Given the description of an element on the screen output the (x, y) to click on. 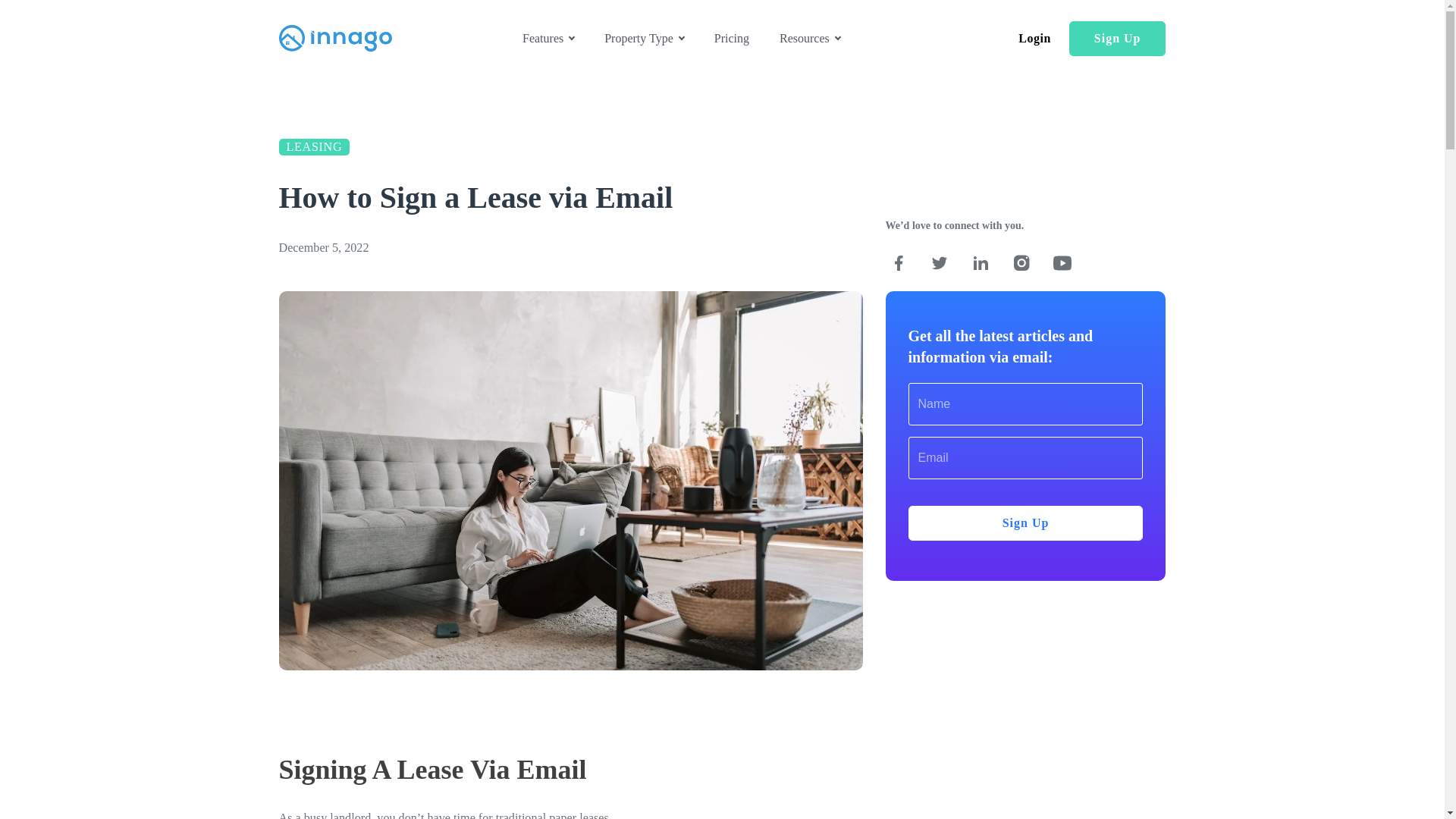
Resources (809, 38)
Pricing (731, 38)
Sign Up (1117, 38)
Features (547, 38)
Property Type (644, 38)
Login (1034, 38)
